Given the description of an element on the screen output the (x, y) to click on. 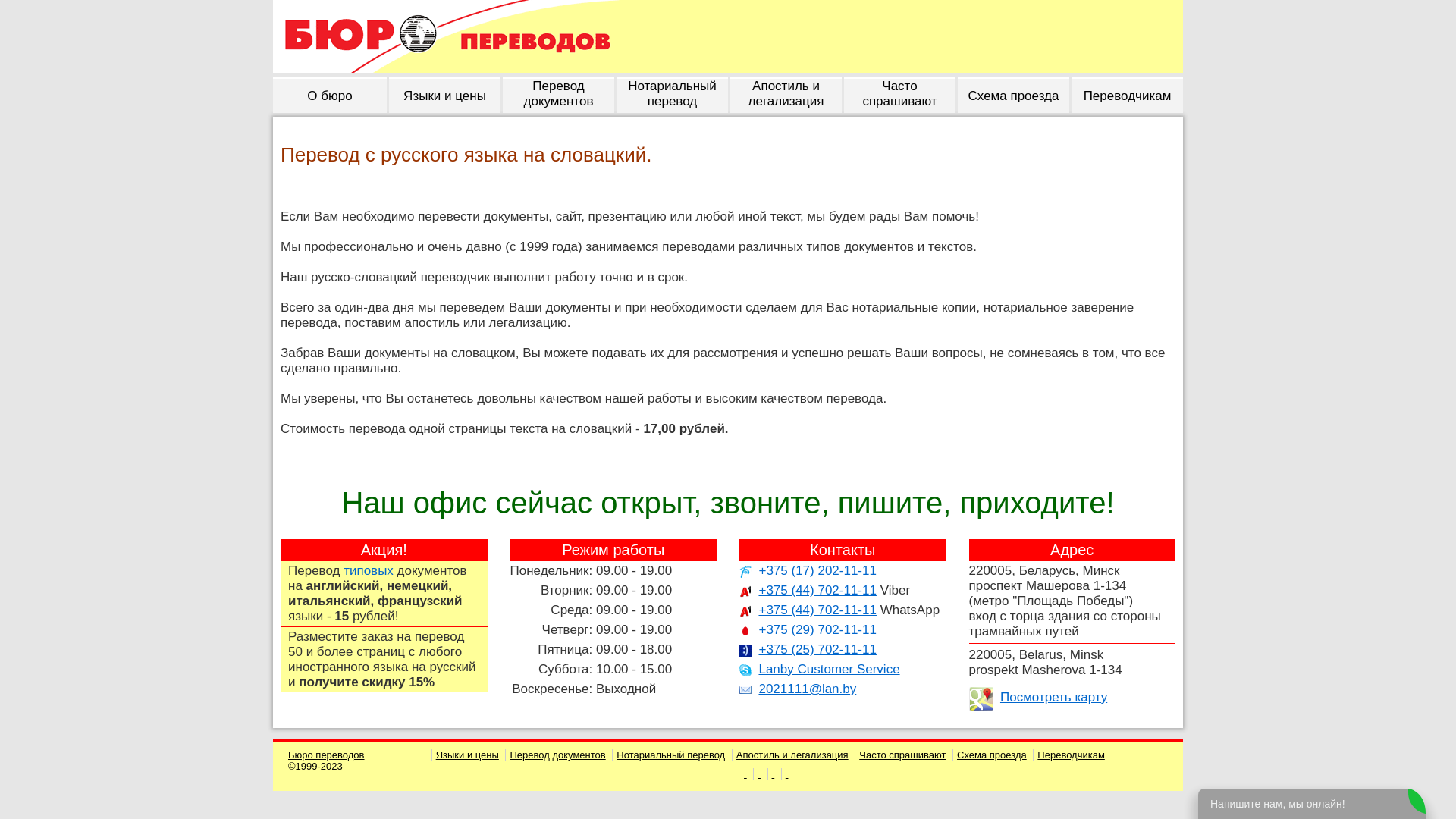
+375 (44) 702-11-11 Element type: text (816, 609)
  Element type: text (744, 773)
+375 (44) 702-11-11 Element type: text (816, 590)
+375 (25) 702-11-11 Element type: text (816, 649)
  Element type: text (756, 773)
  Element type: text (784, 773)
+375 (17) 202-11-11 Element type: text (816, 570)
Lanby Customer Service Element type: text (828, 669)
+375 (29) 702-11-11 Element type: text (816, 629)
2021111@lan.by Element type: text (807, 688)
  Element type: text (771, 773)
